Given the description of an element on the screen output the (x, y) to click on. 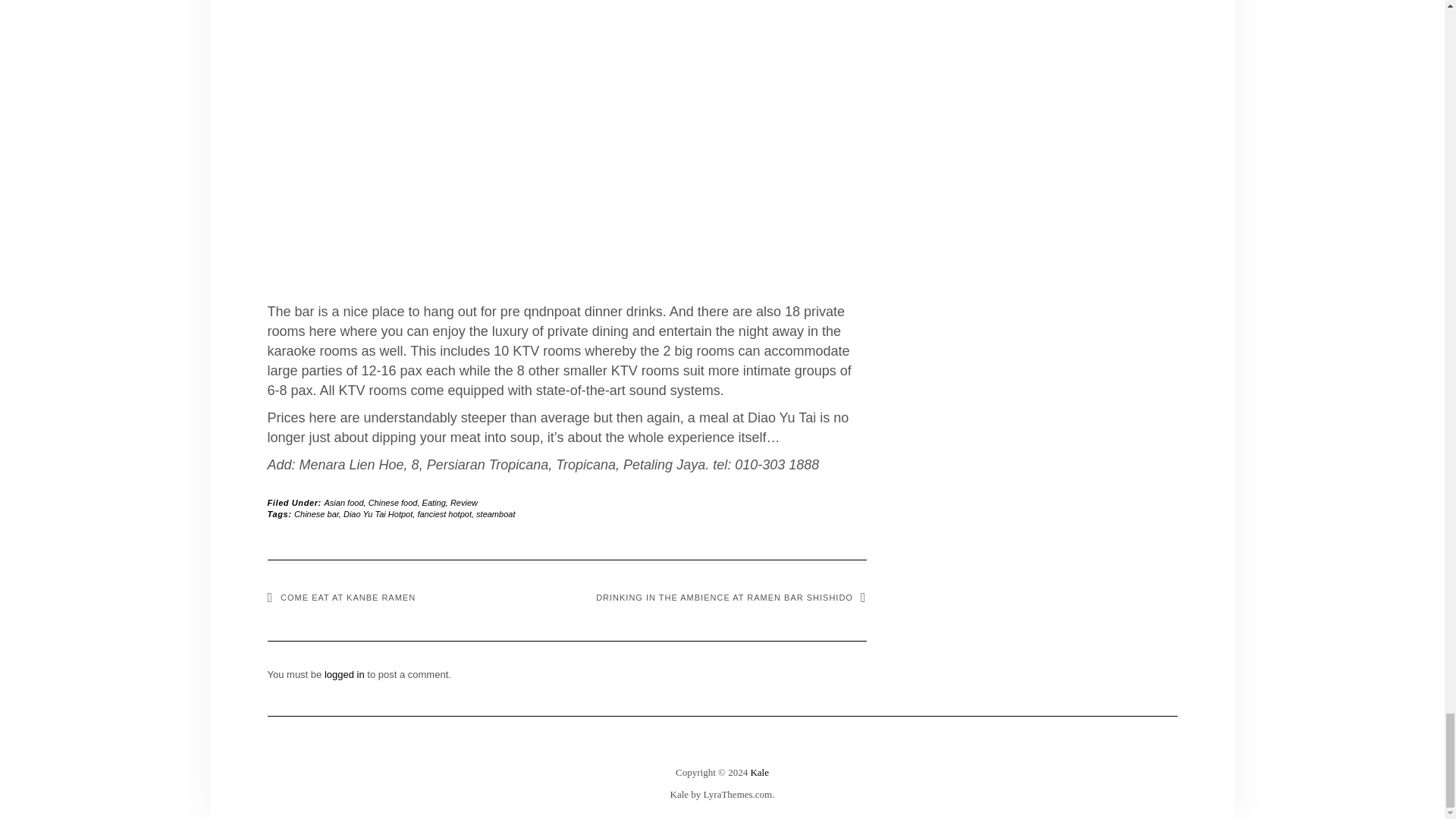
Review (463, 501)
steamboat (495, 513)
Asian food (344, 501)
DRINKING IN THE AMBIENCE AT RAMEN BAR SHISHIDO (730, 596)
Chinese bar (316, 513)
logged in (344, 674)
Eating (433, 501)
Diao Yu Tai Hotpot (377, 513)
Chinese food (392, 501)
fanciest hotpot (443, 513)
